Given the description of an element on the screen output the (x, y) to click on. 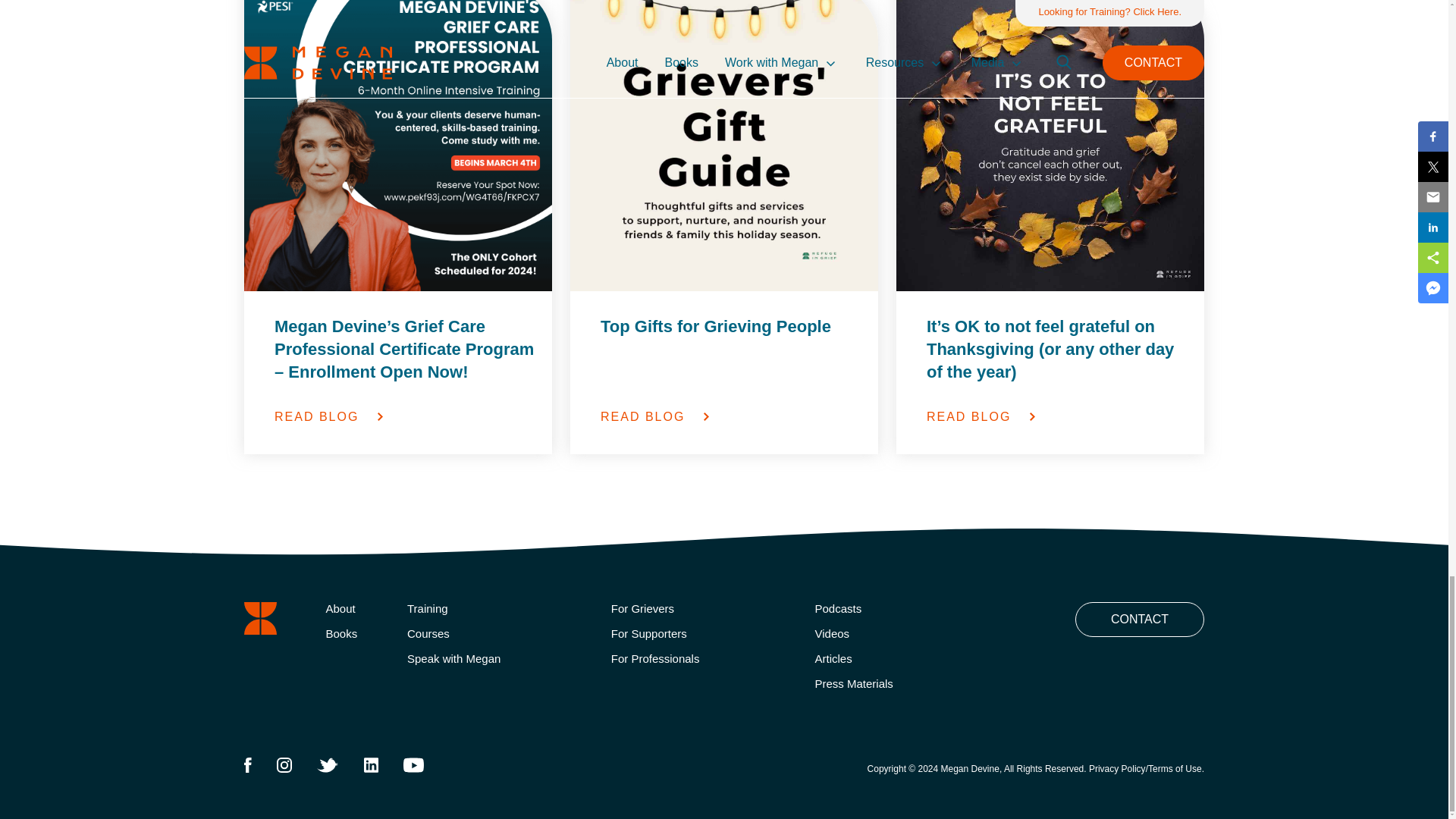
Top Gifts for Grieving People (730, 349)
About (356, 608)
READ BLOG (1057, 417)
READ BLOG (730, 417)
Books (356, 633)
READ BLOG (405, 417)
